Given the description of an element on the screen output the (x, y) to click on. 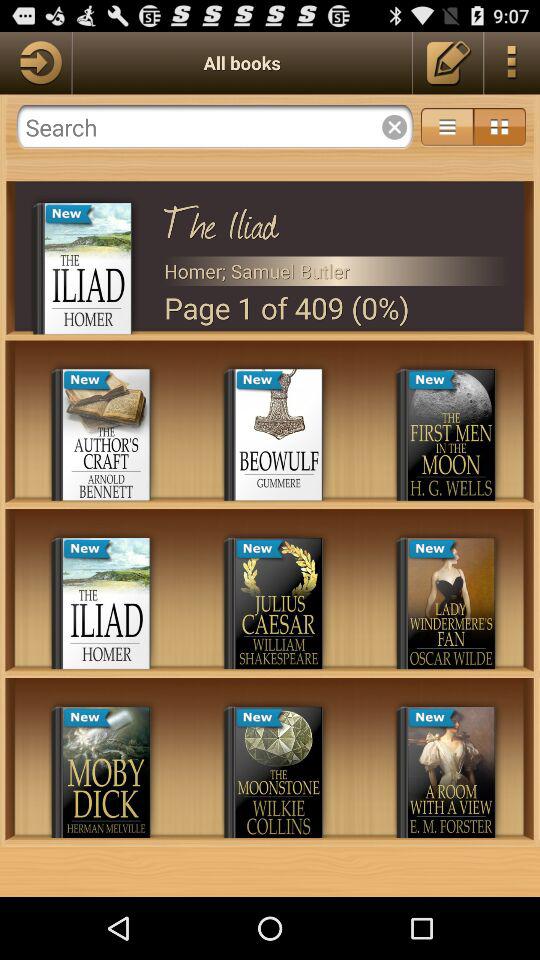
swipe to page 1 of (336, 307)
